Given the description of an element on the screen output the (x, y) to click on. 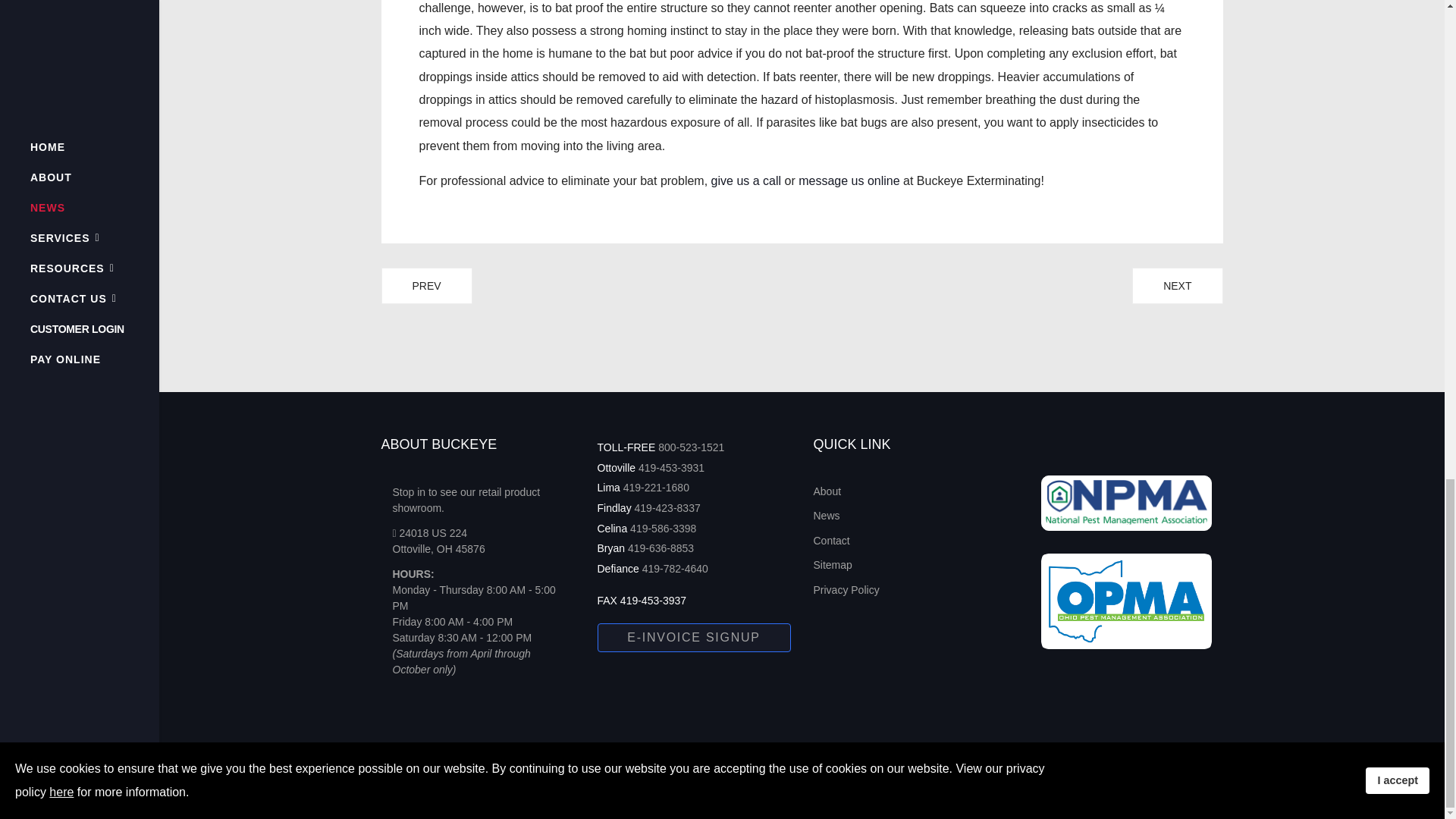
Squirrel Control  (425, 285)
Website design and development (793, 788)
Bird Control Solutions (1177, 285)
24018 US 224 (430, 532)
NEXT (1177, 285)
419-586-3398 (662, 528)
419-782-4640 (674, 568)
419-453-3931 (671, 467)
message us online (848, 180)
419-636-8853 (660, 548)
